Given the description of an element on the screen output the (x, y) to click on. 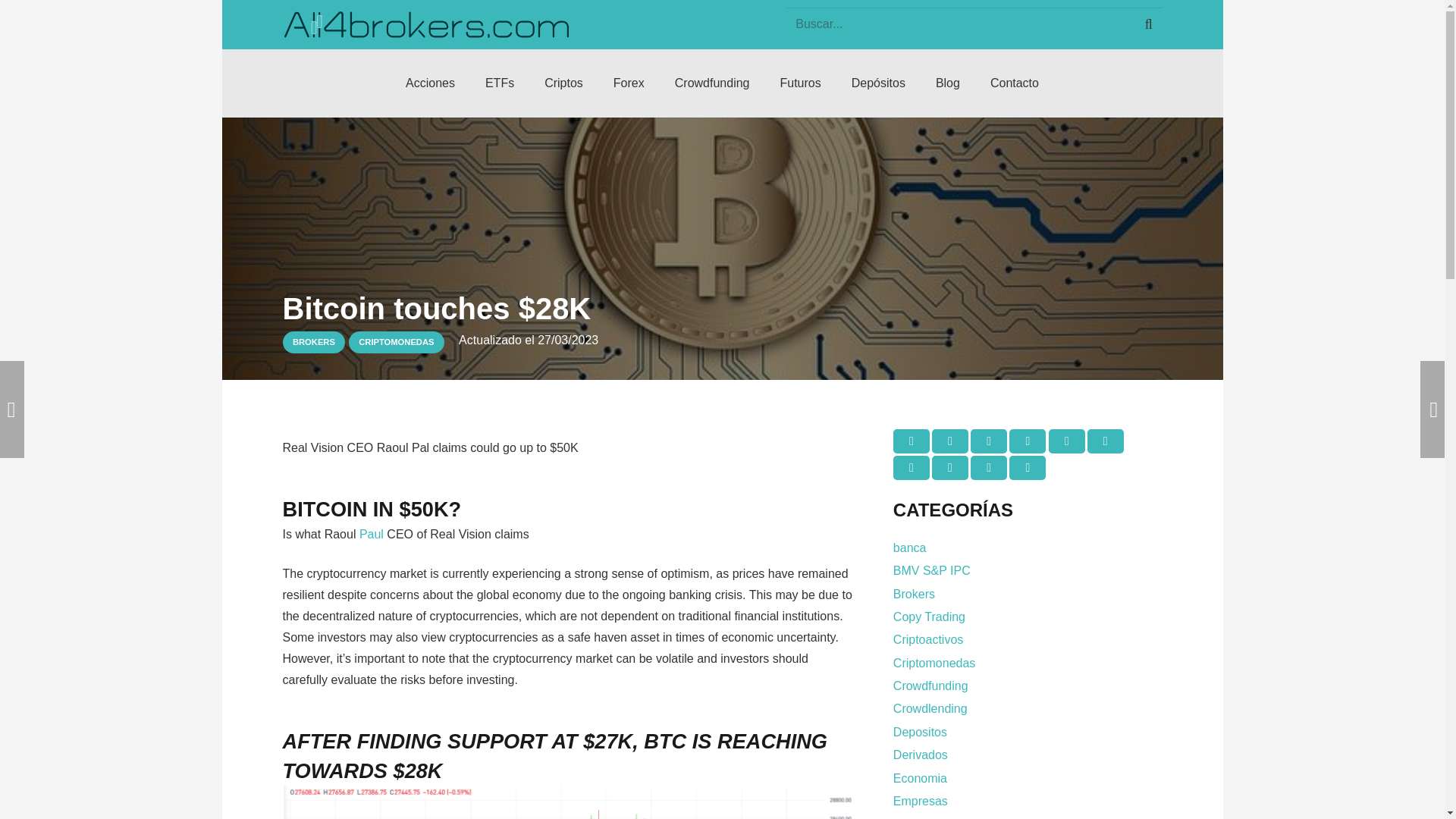
Futuros (799, 83)
Comparte esto (989, 467)
BROKERS (313, 341)
Comparte esto (949, 441)
Comparte esto (949, 467)
Crowdfunding (712, 83)
Comparte esto (1105, 441)
Forex (628, 83)
CRIPTOMONEDAS (396, 341)
Comparte esto (911, 467)
Comparte esto (1027, 467)
Criptos (563, 83)
Comparte esto (1027, 441)
Contacto (1014, 83)
Paul (371, 533)
